Given the description of an element on the screen output the (x, y) to click on. 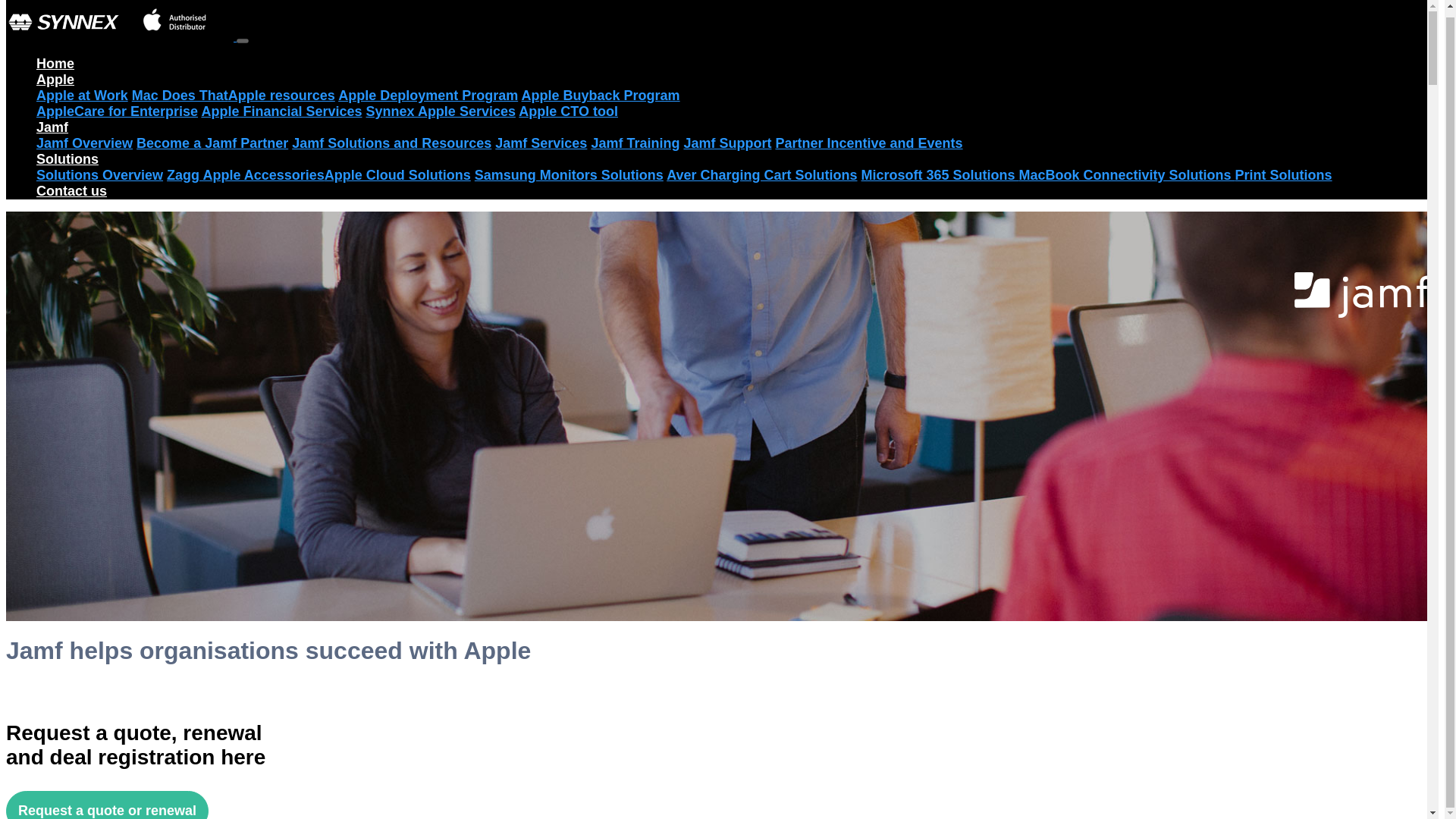
MacBook Connectivity Solutions (1126, 174)
Apple Buyback Program (600, 95)
Apple Cloud Solutions (397, 174)
Mac Does That (180, 95)
Jamf (52, 127)
Solutions Overview (99, 174)
Home (55, 63)
Microsoft 365 Solutions (940, 174)
Request a quote or renewal (106, 805)
Solutions (67, 159)
